Given the description of an element on the screen output the (x, y) to click on. 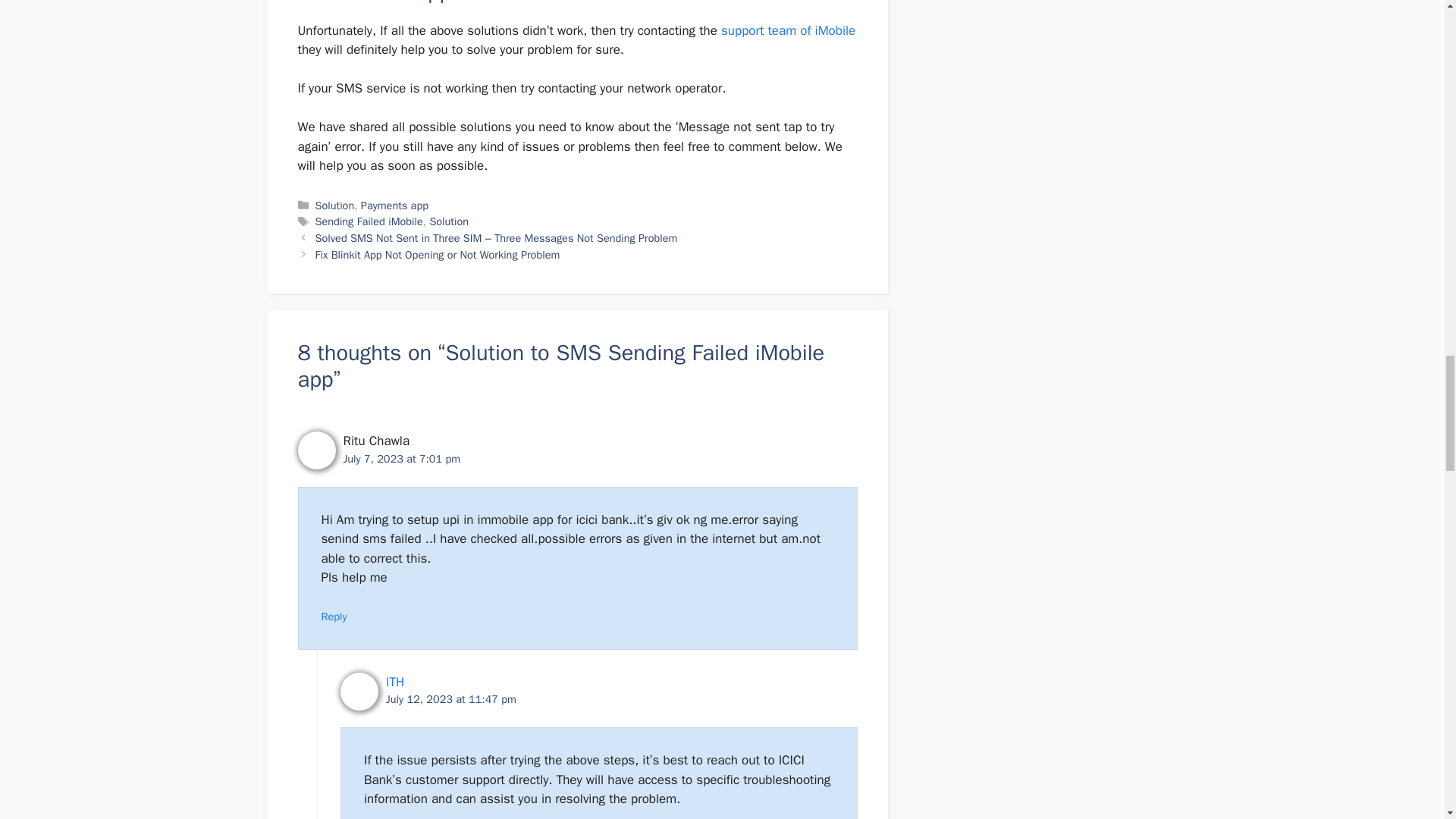
support team of iMobile (788, 30)
Fix Blinkit App Not Opening or Not Working Problem (437, 254)
July 7, 2023 at 7:01 pm (401, 459)
Payments app (394, 205)
Solution (448, 221)
July 12, 2023 at 11:47 pm (450, 698)
Solution (335, 205)
Reply (334, 616)
ITH (394, 682)
Sending Failed iMobile (369, 221)
